Given the description of an element on the screen output the (x, y) to click on. 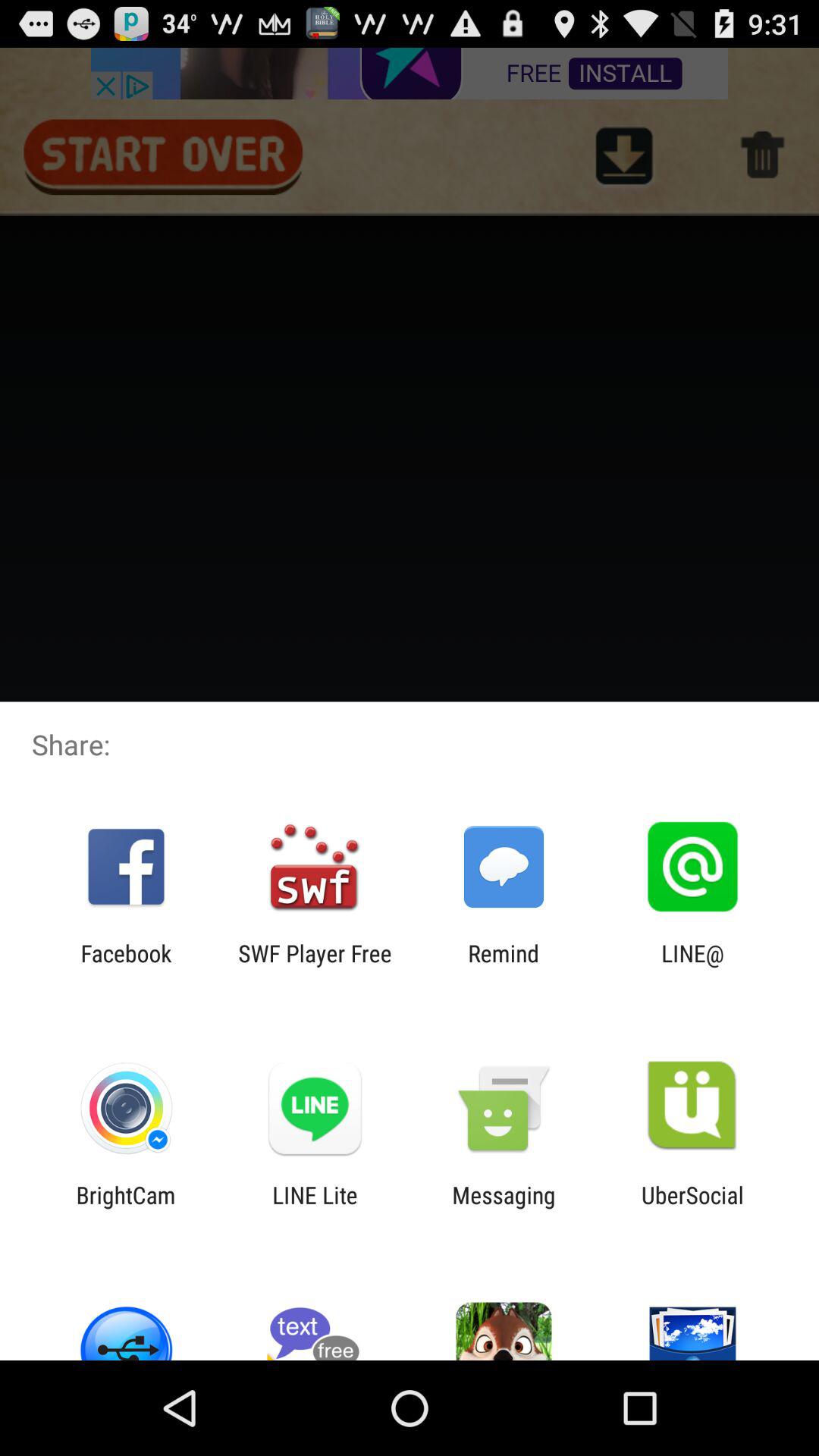
choose the brightcam app (125, 1208)
